Given the description of an element on the screen output the (x, y) to click on. 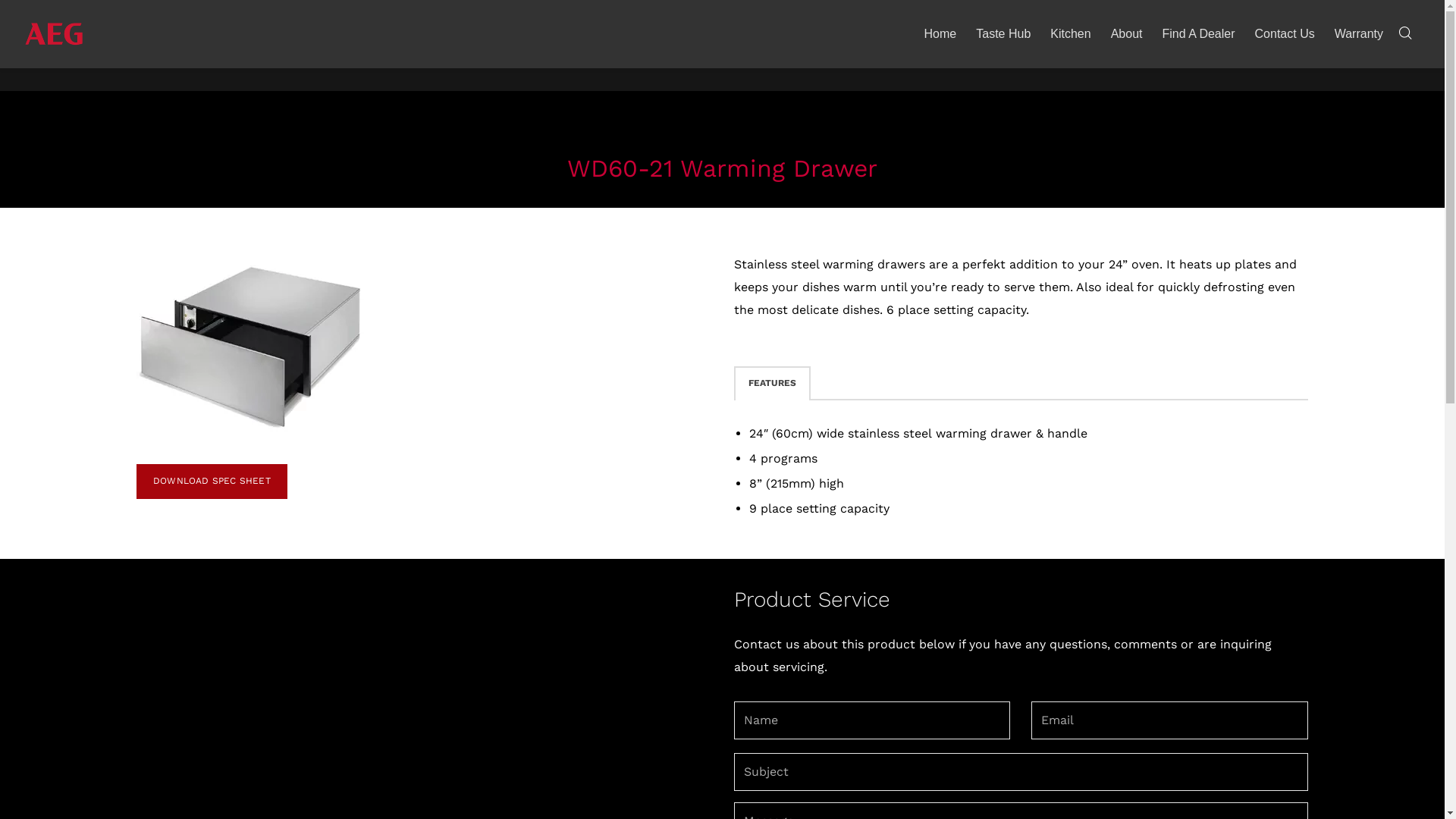
Taste Hub Element type: text (1003, 34)
About Element type: text (1126, 34)
Home Element type: text (940, 34)
Kitchen Element type: text (1070, 34)
AEG-warming-drawer-1 - AEG Appliances Element type: hover (250, 347)
Contact Us Element type: text (1284, 34)
DOWNLOAD SPEC SHEET Element type: text (211, 481)
Find A Dealer Element type: text (1197, 34)
Warranty Element type: text (1358, 34)
FEATURES Element type: text (772, 383)
